Given the description of an element on the screen output the (x, y) to click on. 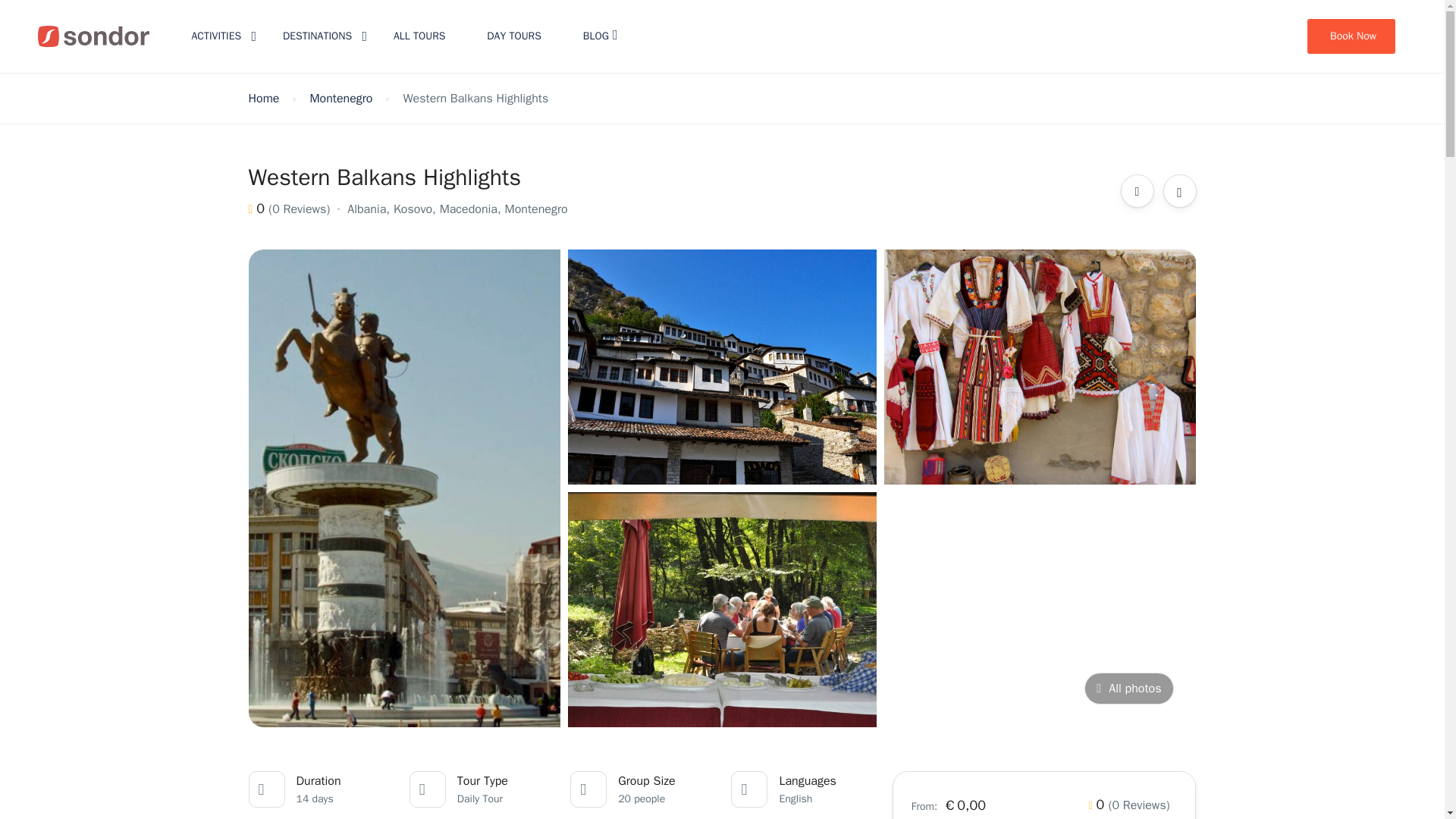
Home (263, 98)
Book Now (1350, 36)
BLOG (600, 36)
DESTINATIONS (317, 36)
ACTIVITIES (215, 36)
Montenegro (340, 98)
ALL TOURS (419, 36)
DAY TOURS (513, 36)
All photos (1128, 688)
Add to wishlist (1179, 191)
